Given the description of an element on the screen output the (x, y) to click on. 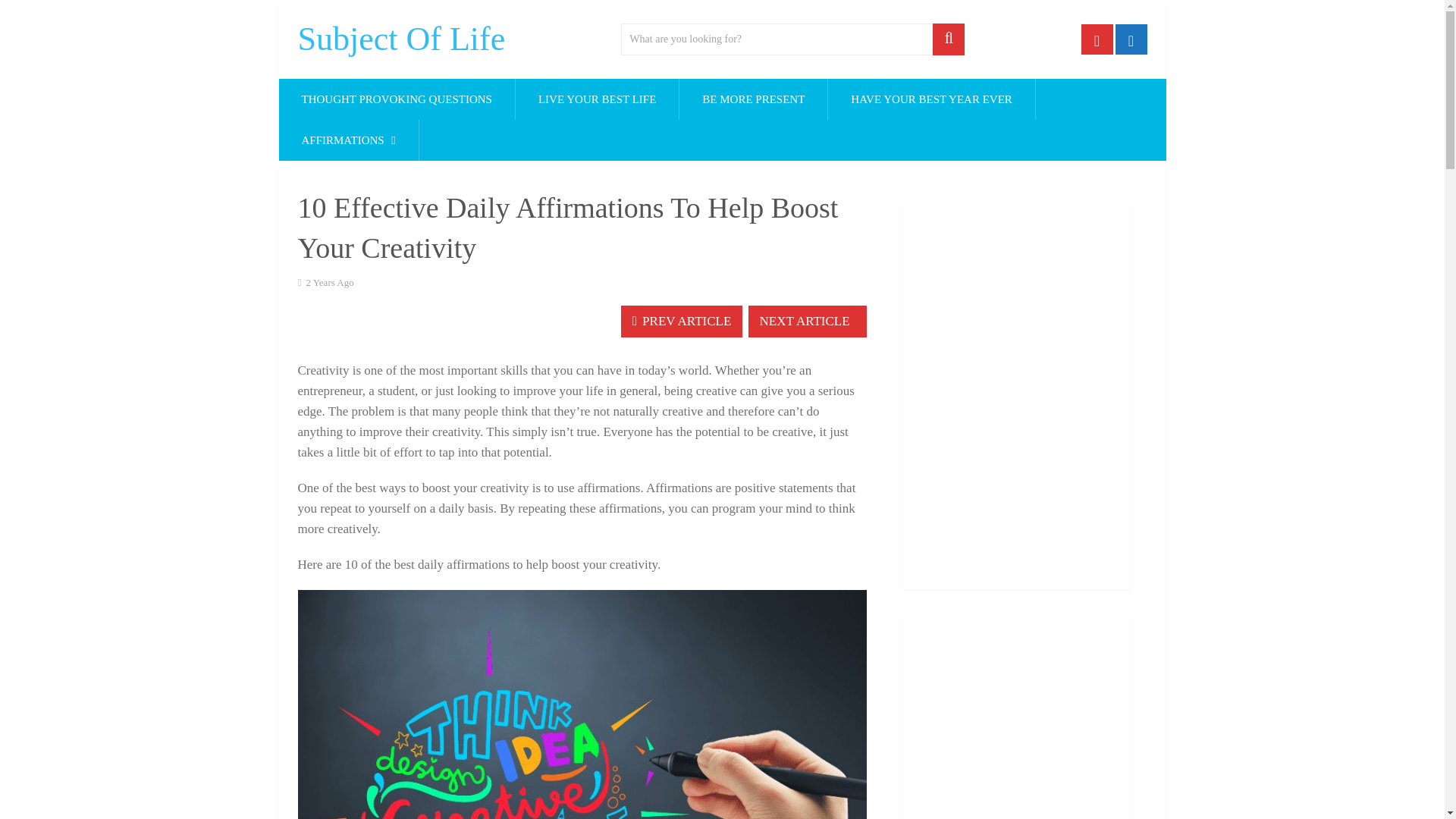
THOUGHT PROVOKING QUESTIONS (397, 98)
120 Thought Provoking Questions (397, 98)
100 Ways To Live Your Best Life (596, 98)
HAVE YOUR BEST YEAR EVER (931, 98)
AFFIRMATIONS (349, 139)
LIVE YOUR BEST LIFE (596, 98)
BE MORE PRESENT (753, 98)
Subject Of Life (401, 39)
Best Year Ever (931, 98)
NEXT ARTICLE (807, 321)
